Given the description of an element on the screen output the (x, y) to click on. 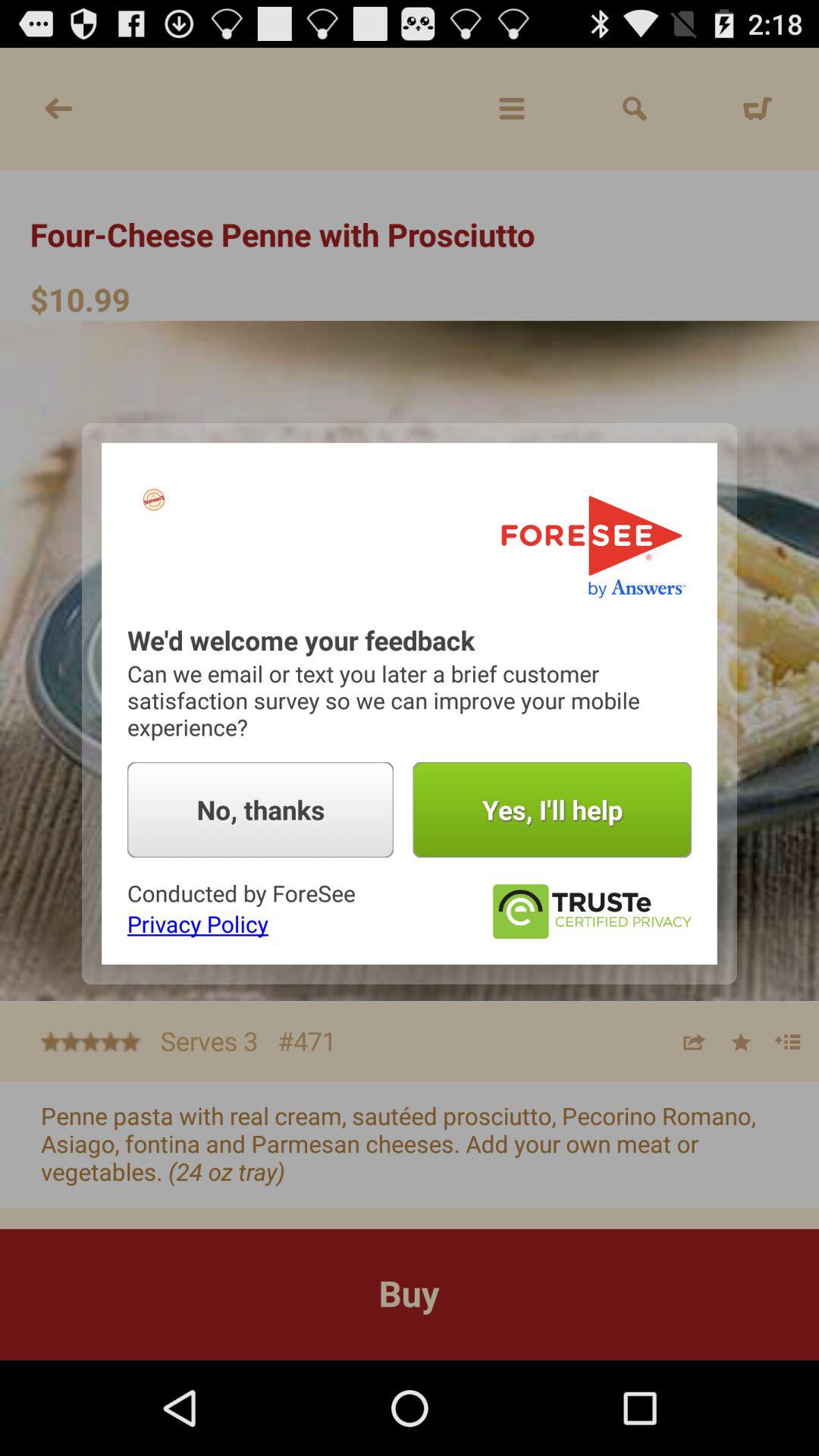
select yes i ll button (551, 809)
